Given the description of an element on the screen output the (x, y) to click on. 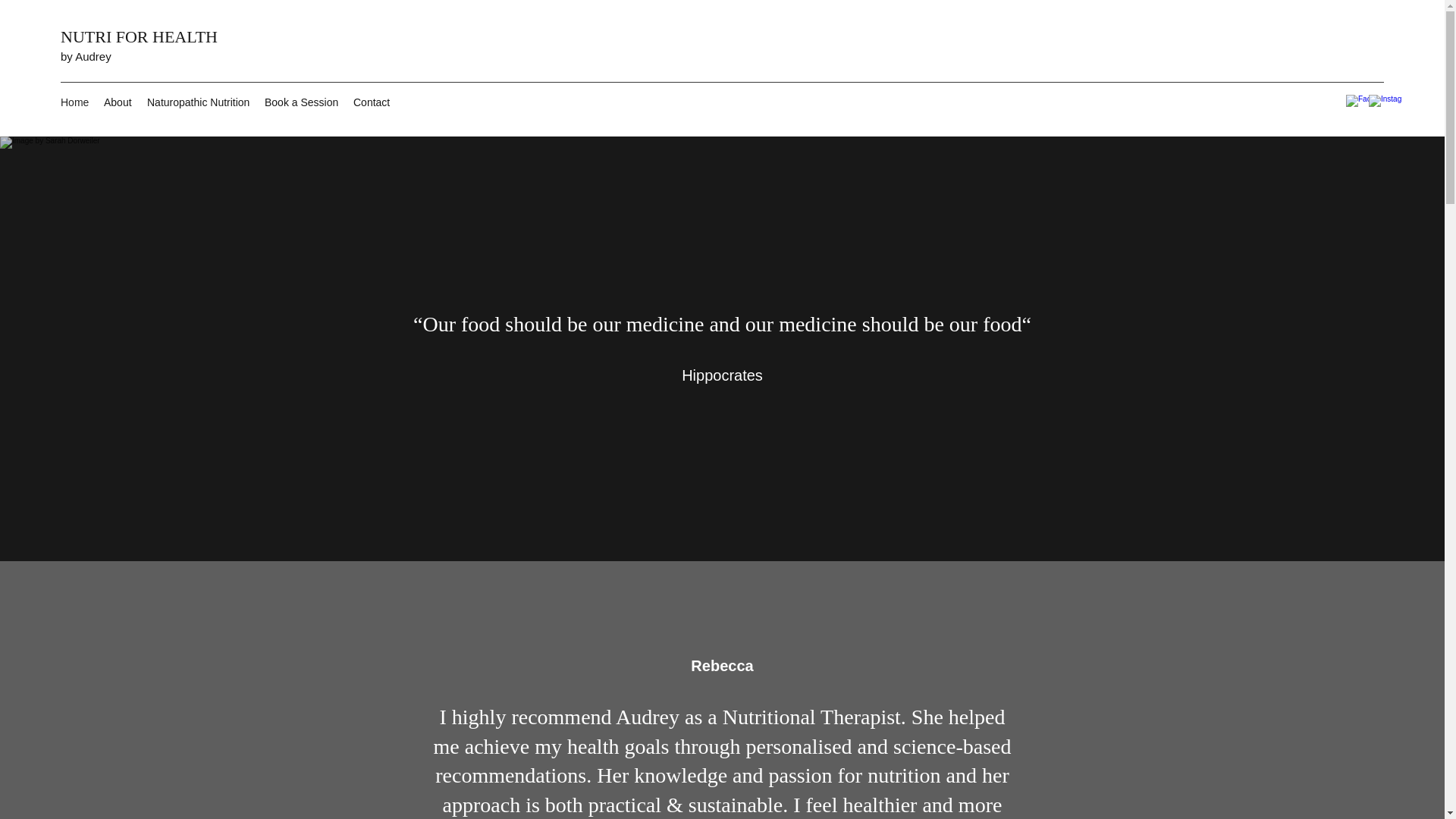
Book a Session (301, 101)
Contact (371, 101)
About (117, 101)
Naturopathic Nutrition (198, 101)
Home (74, 101)
